Given the description of an element on the screen output the (x, y) to click on. 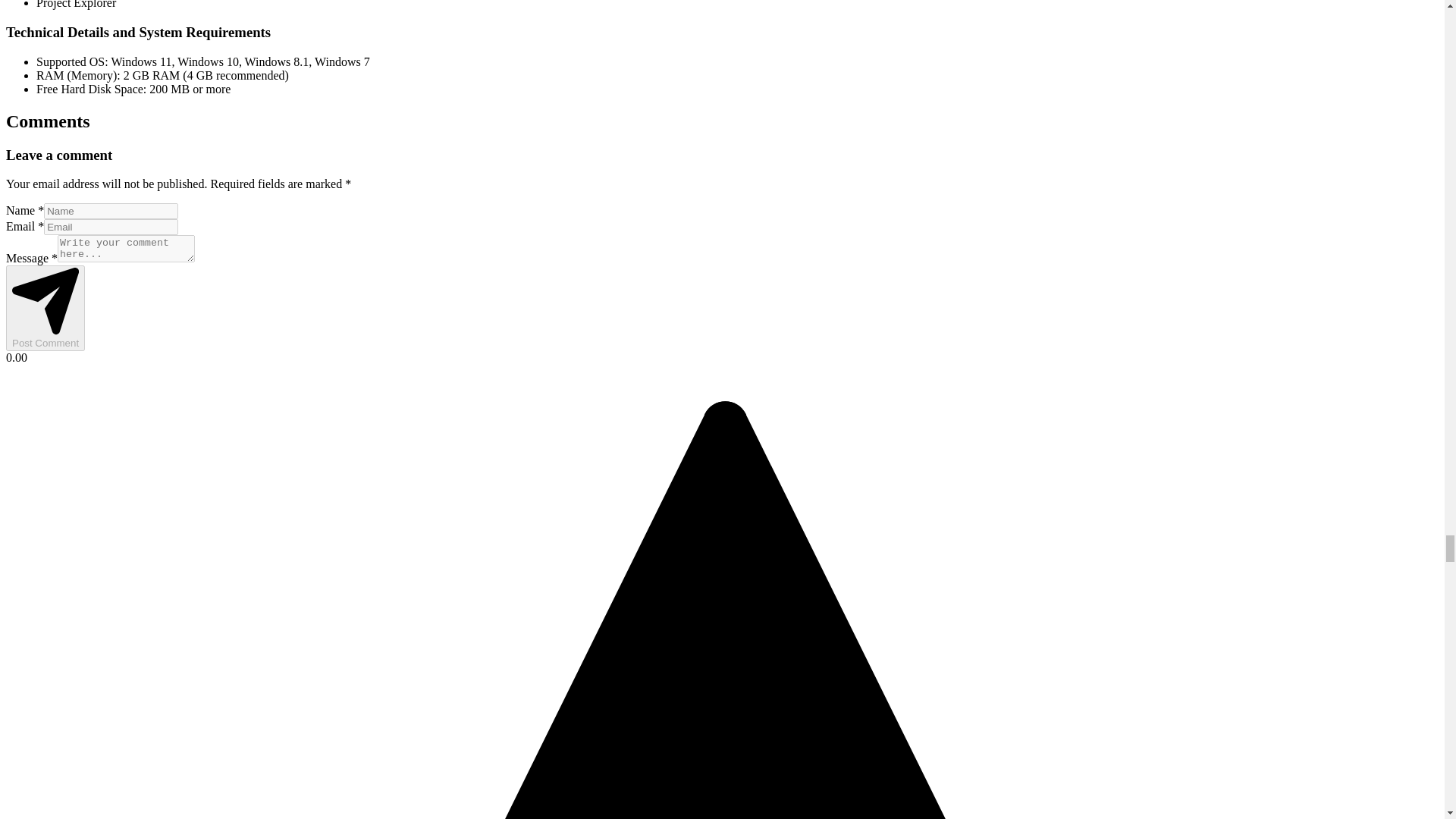
Post Comment (44, 307)
